Given the description of an element on the screen output the (x, y) to click on. 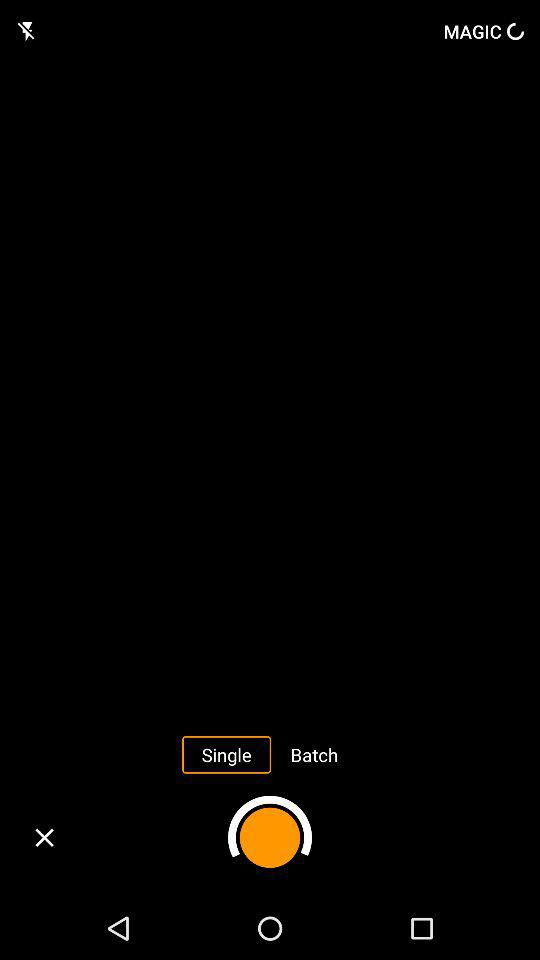
choose the icon next to batch icon (226, 754)
